Given the description of an element on the screen output the (x, y) to click on. 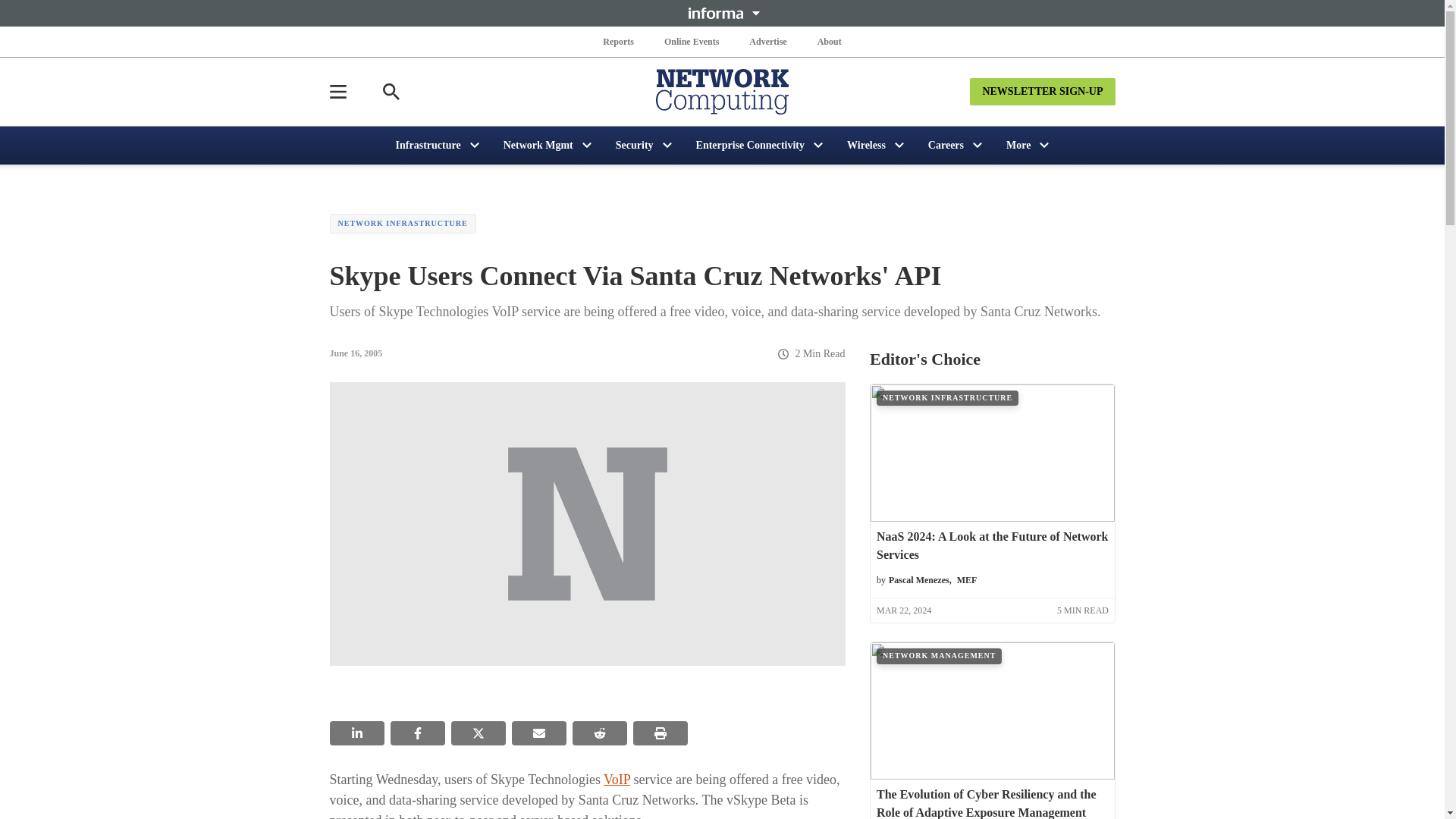
Reports (618, 41)
Advertise (767, 41)
NEWSLETTER SIGN-UP (1042, 90)
Network Computing Logo (722, 91)
About (828, 41)
Online Events (691, 41)
